Given the description of an element on the screen output the (x, y) to click on. 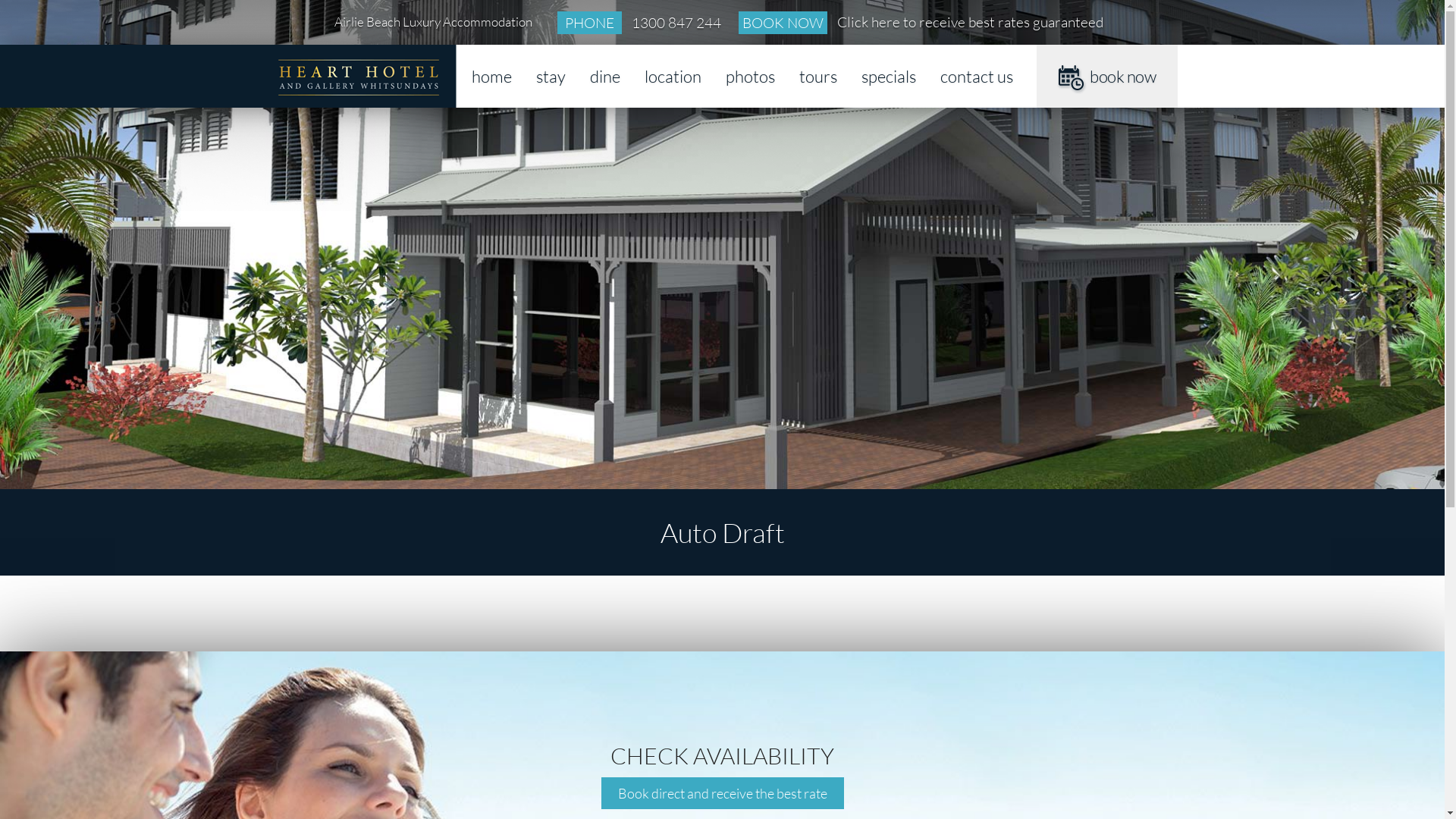
BOOK NOW Element type: text (781, 22)
photos Element type: text (750, 75)
book now Element type: text (1106, 75)
location Element type: text (672, 75)
contact us Element type: text (976, 75)
Book direct and receive the best rate Element type: text (721, 793)
home Element type: text (491, 75)
stay Element type: text (550, 75)
1300 847 244 Element type: text (675, 22)
tours Element type: text (818, 75)
dine Element type: text (604, 75)
specials Element type: text (888, 75)
